Given the description of an element on the screen output the (x, y) to click on. 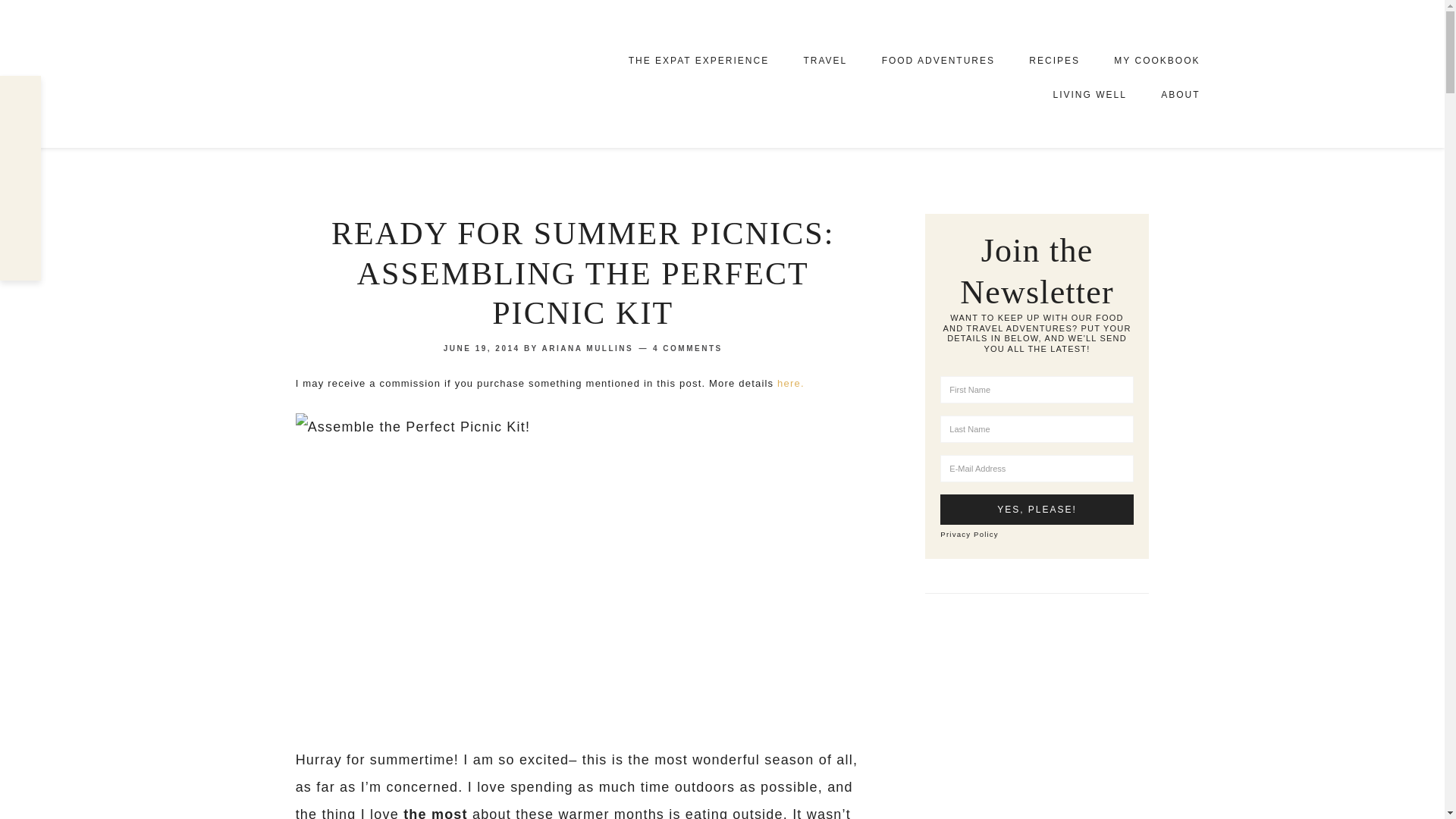
Yes, Please! (1036, 509)
THE EXPAT EXPERIENCE (698, 60)
AND HERE WE ARE (380, 73)
LIVING WELL (1088, 94)
FOOD ADVENTURES (938, 60)
RECIPES (1053, 60)
TRAVEL (824, 60)
MY COOKBOOK (1156, 58)
